Given the description of an element on the screen output the (x, y) to click on. 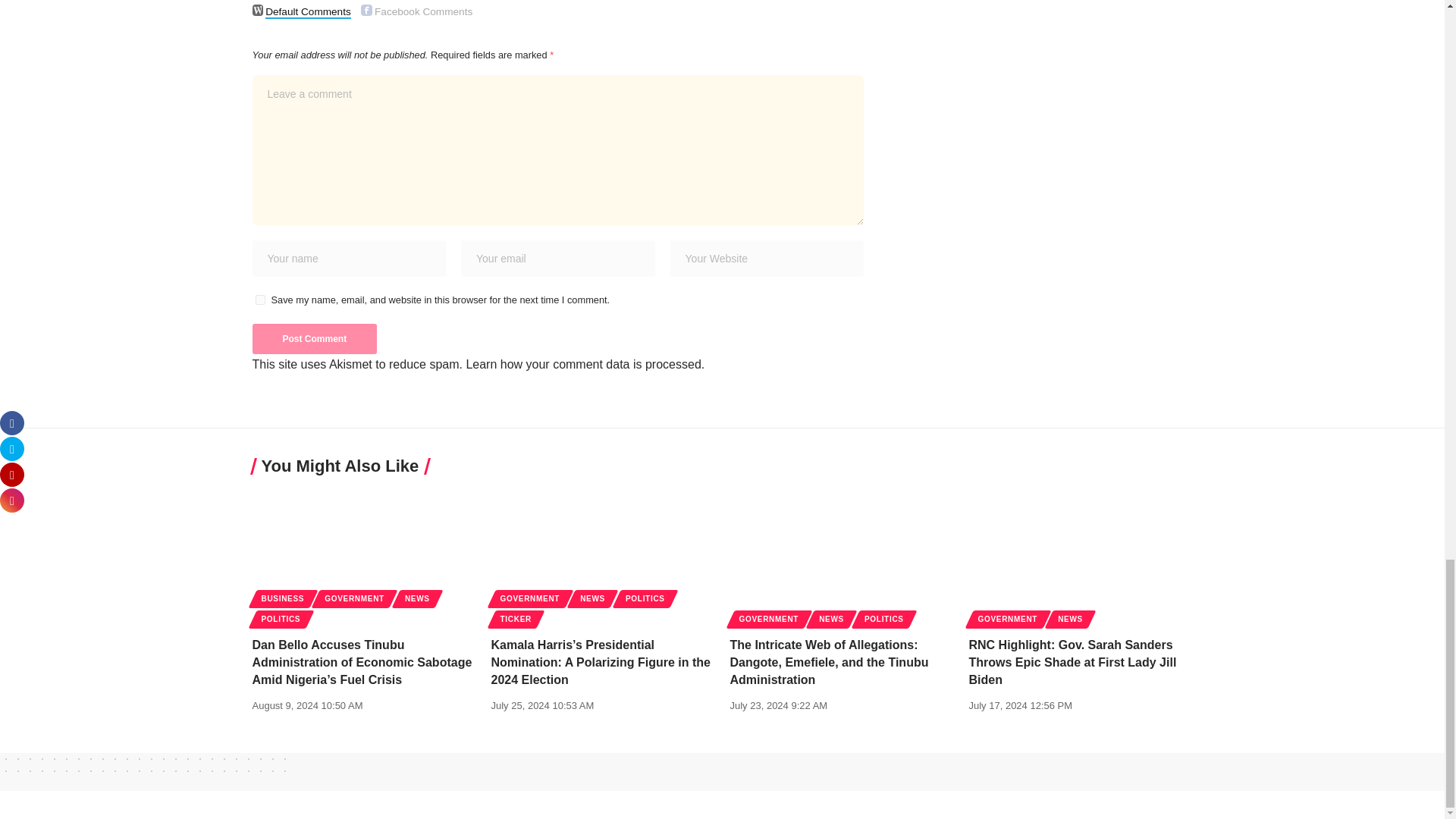
Default Comments (257, 9)
yes (259, 299)
Facebook Comments (366, 9)
Post Comment (314, 338)
